Given the description of an element on the screen output the (x, y) to click on. 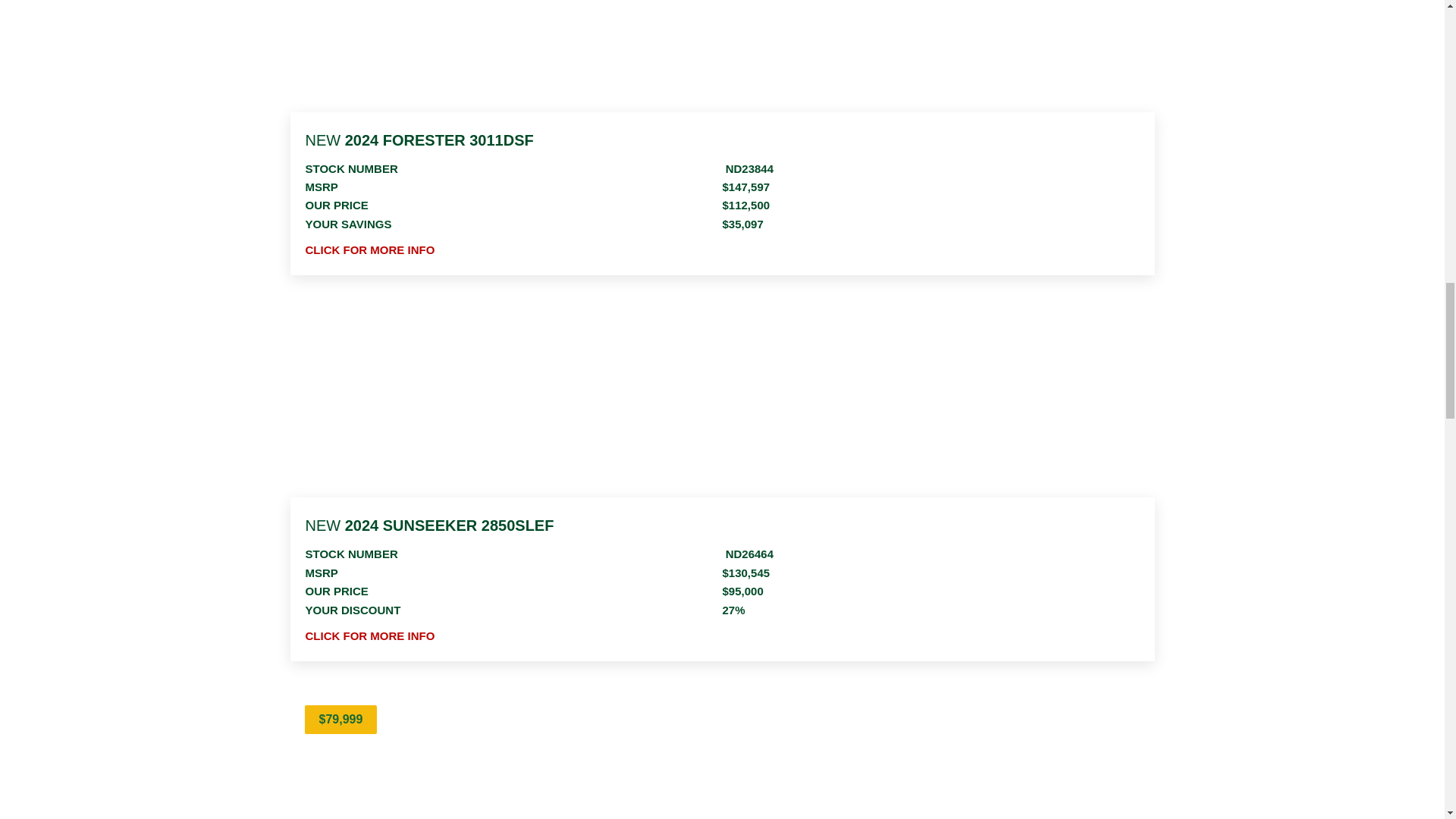
Save and Compare (1142, 719)
Save and Compare (1142, 333)
